Given the description of an element on the screen output the (x, y) to click on. 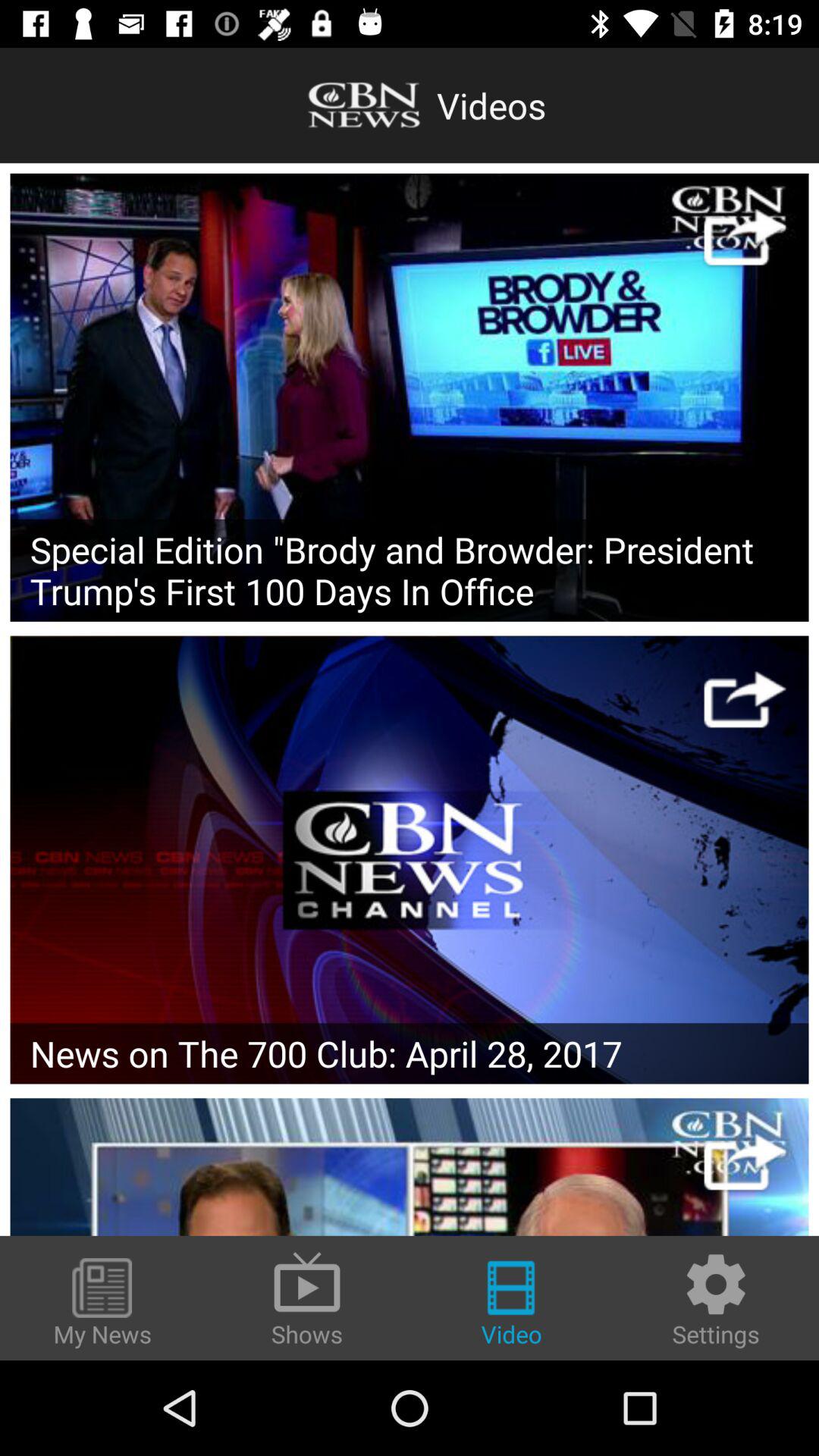
go to watch video (744, 236)
